Given the description of an element on the screen output the (x, y) to click on. 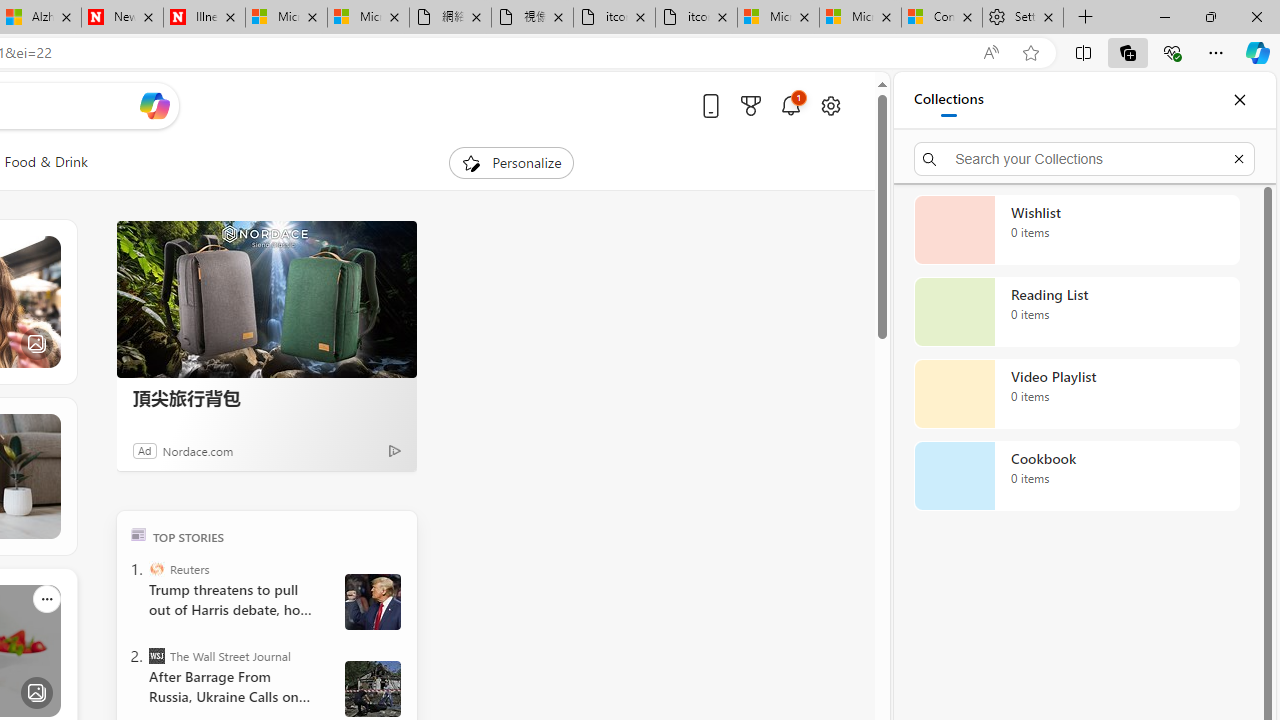
Illness news & latest pictures from Newsweek.com (203, 17)
Open settings (830, 105)
Search your Collections (1084, 158)
Microsoft rewards (749, 105)
To get missing image descriptions, open the context menu. (471, 162)
Wishlist collection, 0 items (1076, 229)
Food & Drink (45, 162)
Open Copilot (155, 105)
Cookbook collection, 0 items (1076, 475)
itconcepthk.com/projector_solutions.mp4 (696, 17)
Consumer Health Data Privacy Policy (941, 17)
